Given the description of an element on the screen output the (x, y) to click on. 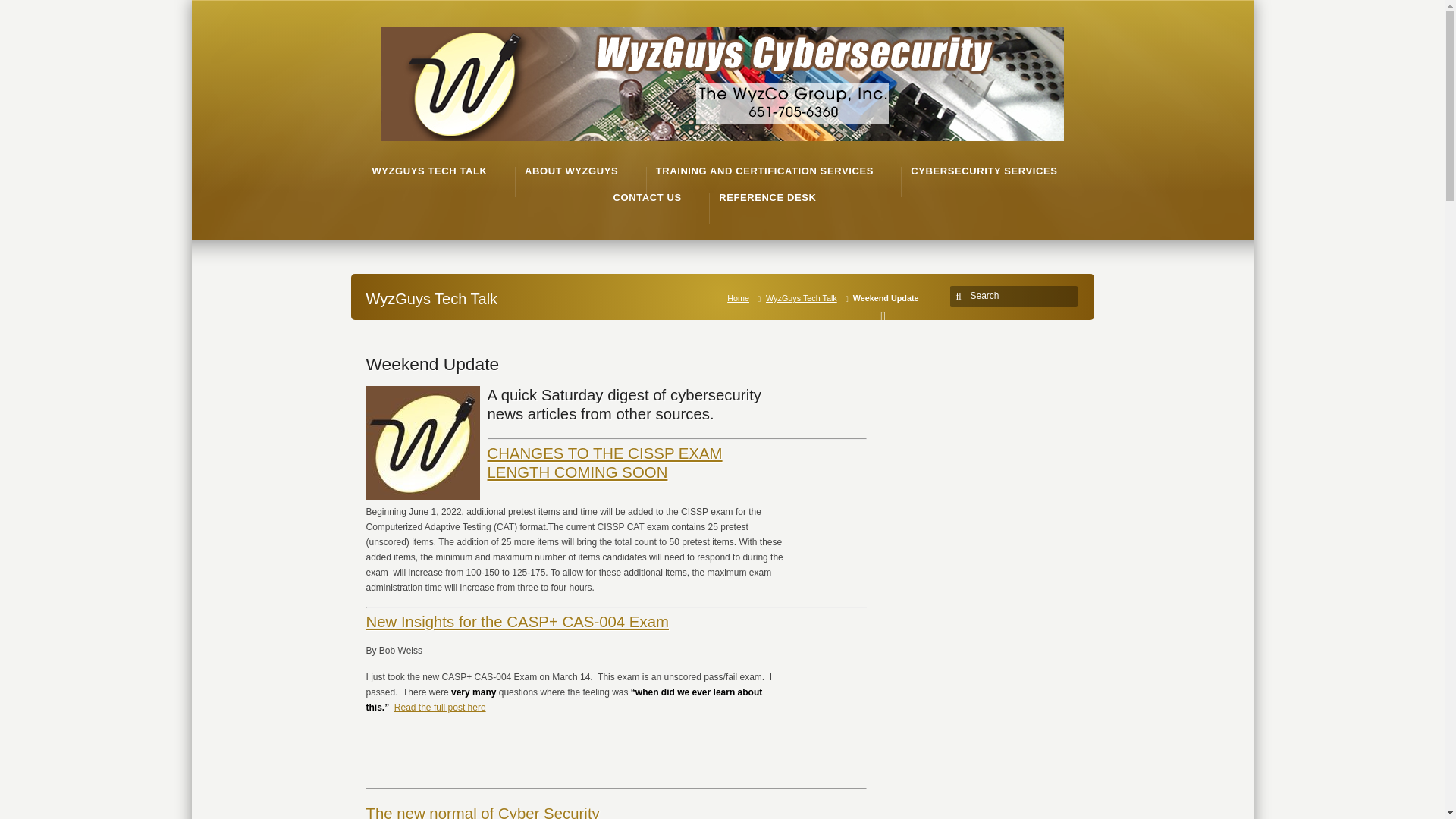
The new normal of Cyber Security (481, 812)
Weekend Update (432, 363)
Read the full post here (440, 706)
CHANGES TO THE CISSP EXAM LENGTH COMING SOON (604, 462)
TRAINING AND CERTIFICATION SERVICES (764, 171)
Weekend Update (432, 363)
WYZGUYS TECH TALK (428, 171)
WyzGuys Tech Talk (804, 297)
REFERENCE DESK (767, 197)
Search (1016, 295)
